Given the description of an element on the screen output the (x, y) to click on. 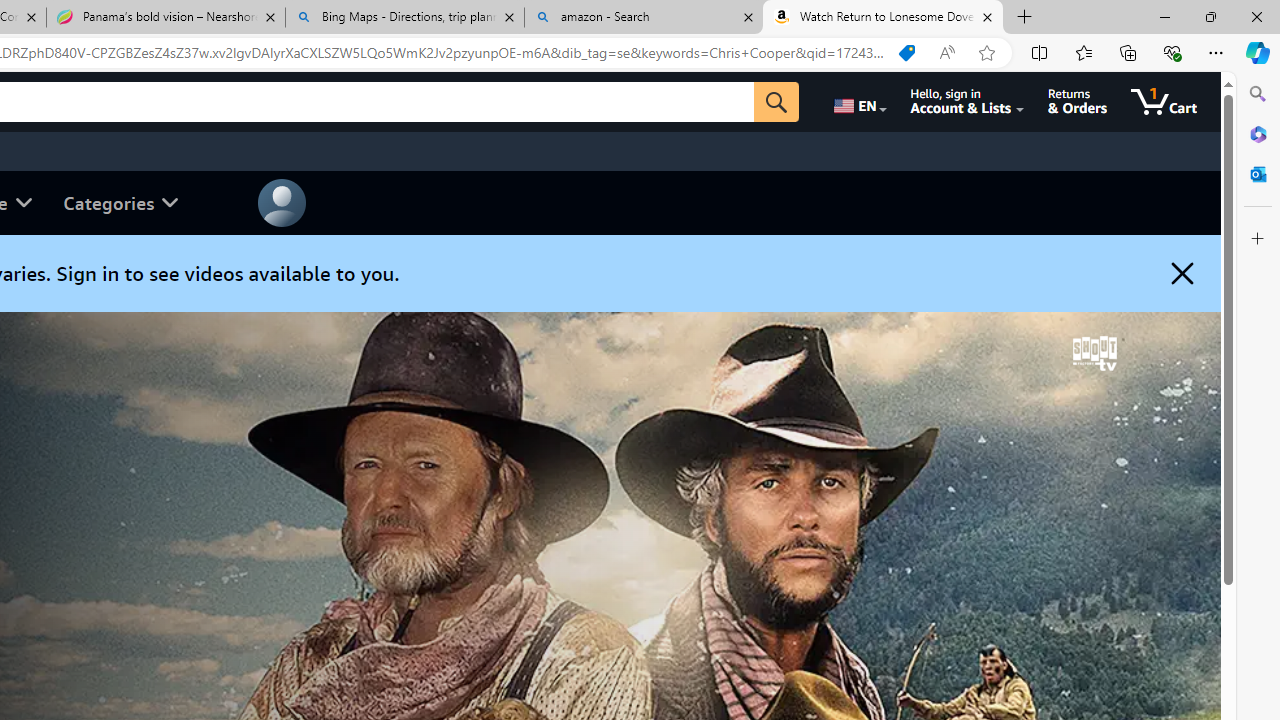
Go (776, 101)
Outlook (1258, 174)
Channel logo (1094, 353)
Watch Return to Lonesome Dove Season 1 | Prime Video (883, 17)
